Given the description of an element on the screen output the (x, y) to click on. 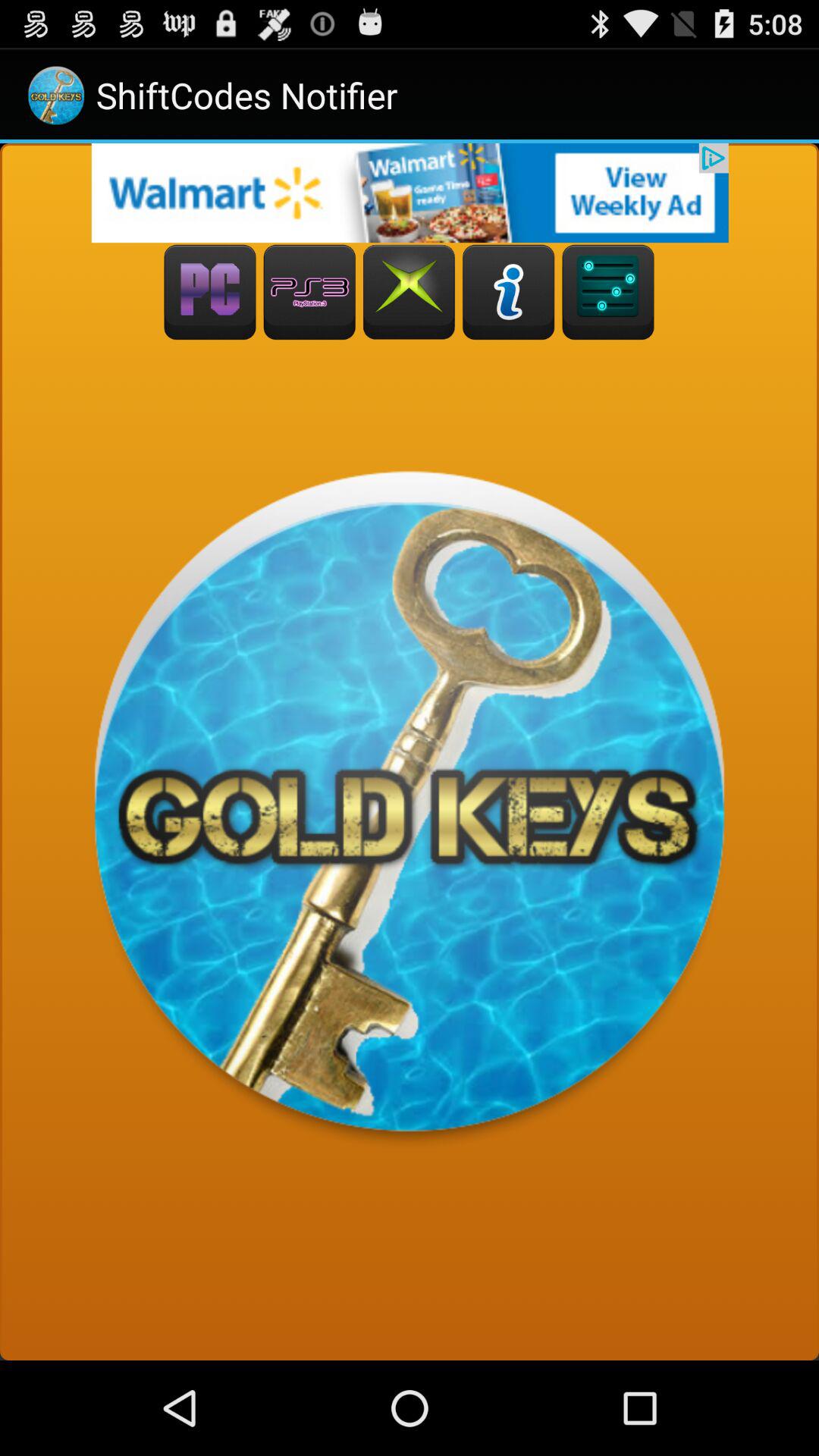
open advertisement (409, 192)
